Given the description of an element on the screen output the (x, y) to click on. 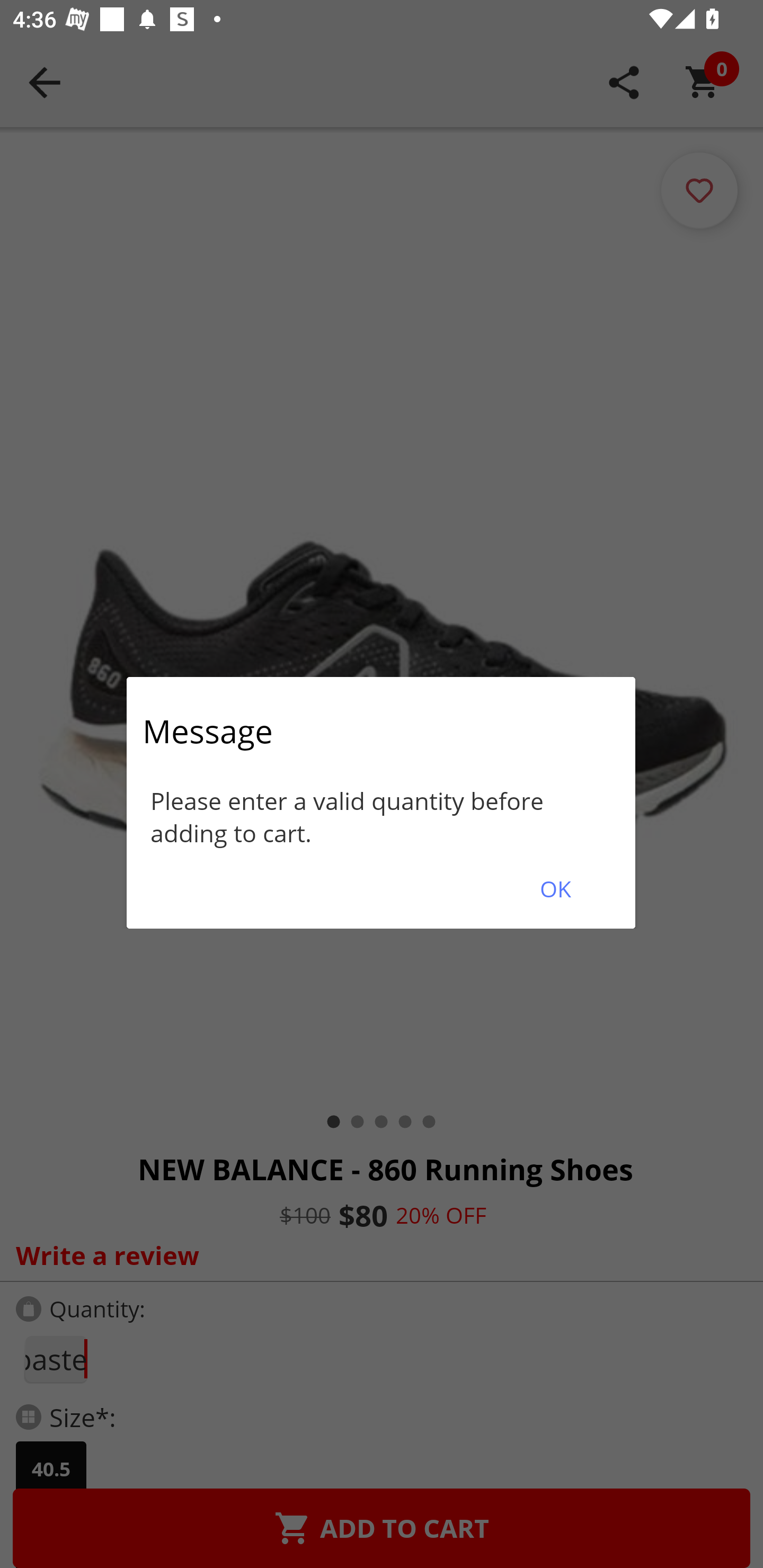
OK (555, 888)
